Given the description of an element on the screen output the (x, y) to click on. 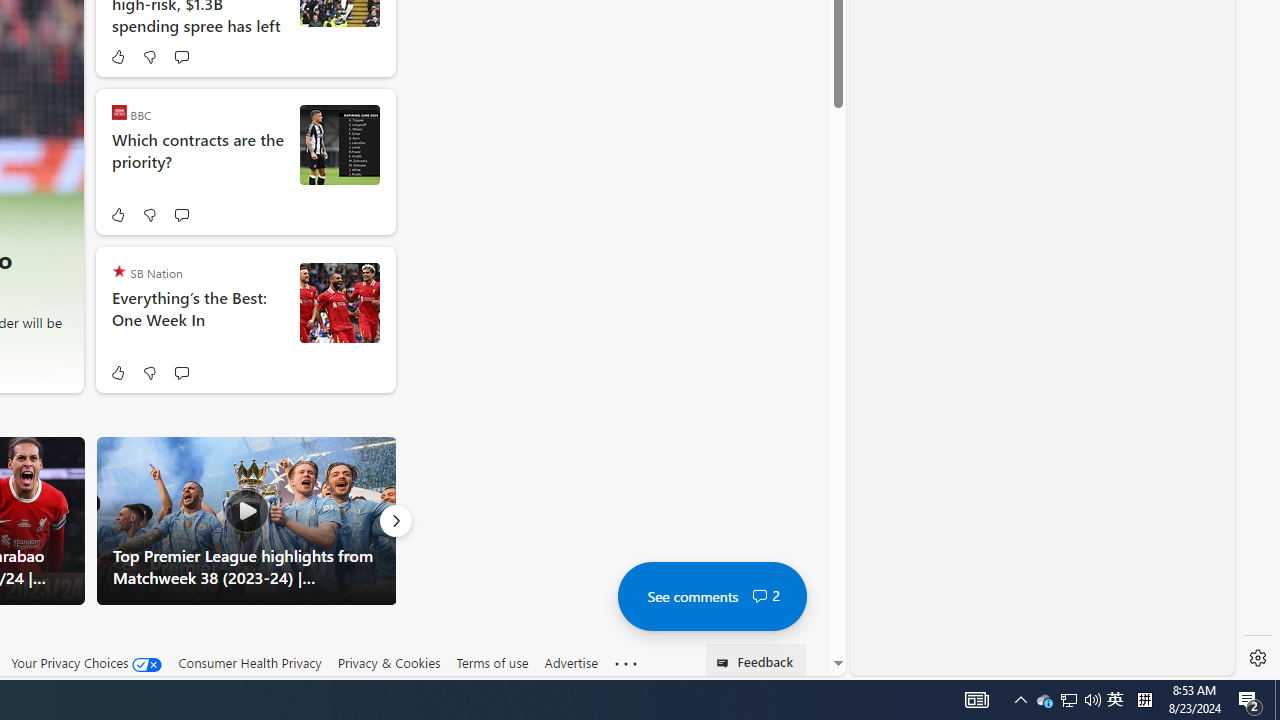
Like (117, 372)
See comments 2 (711, 596)
SB Nation (118, 269)
Class: feedback_link_icon-DS-EntryPoint1-1 (726, 663)
Class: cwt-icon-vector (760, 596)
